Given the description of an element on the screen output the (x, y) to click on. 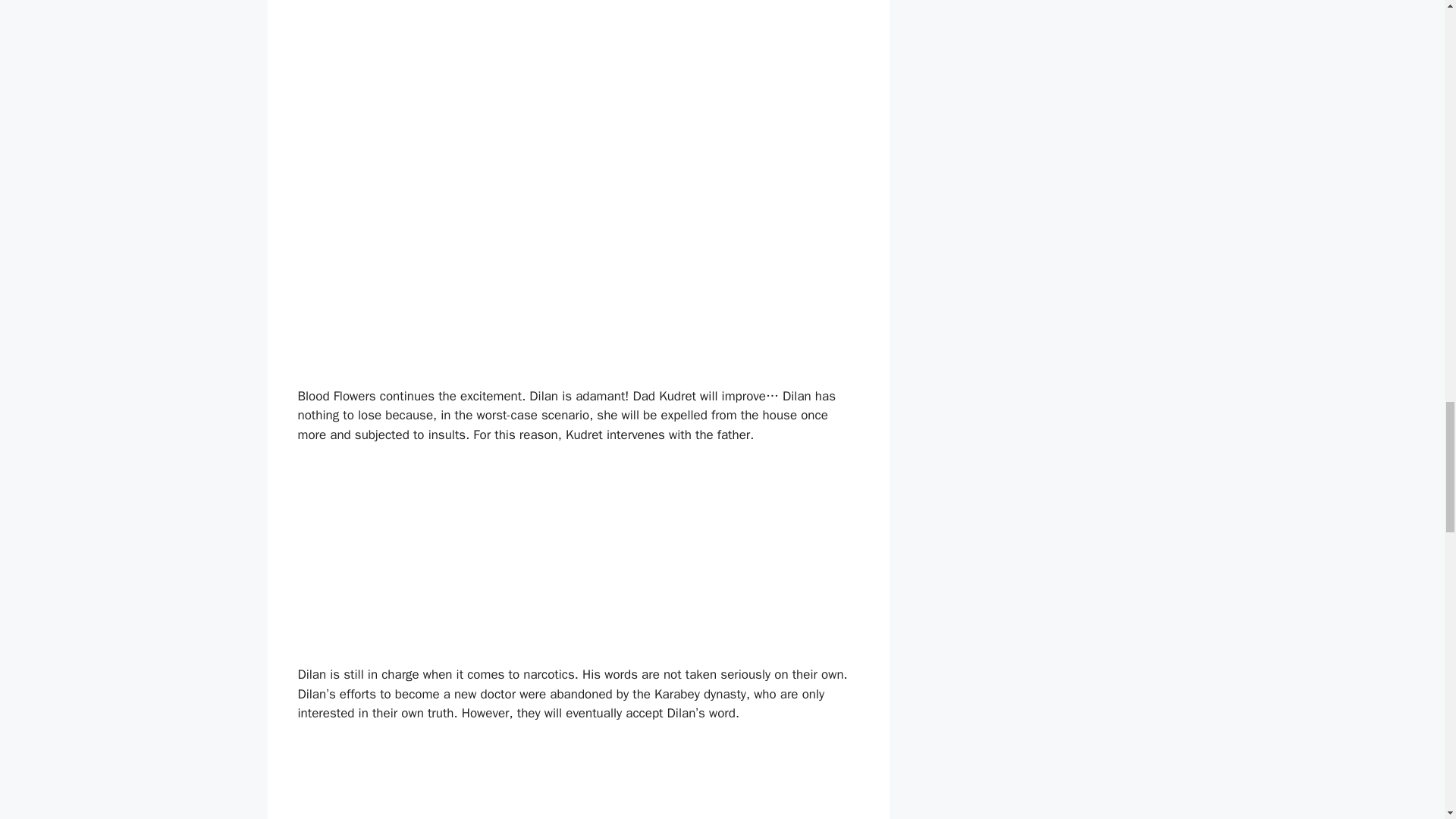
Advertisement (410, 558)
Advertisement (581, 260)
Advertisement (581, 780)
Advertisement (581, 67)
